Given the description of an element on the screen output the (x, y) to click on. 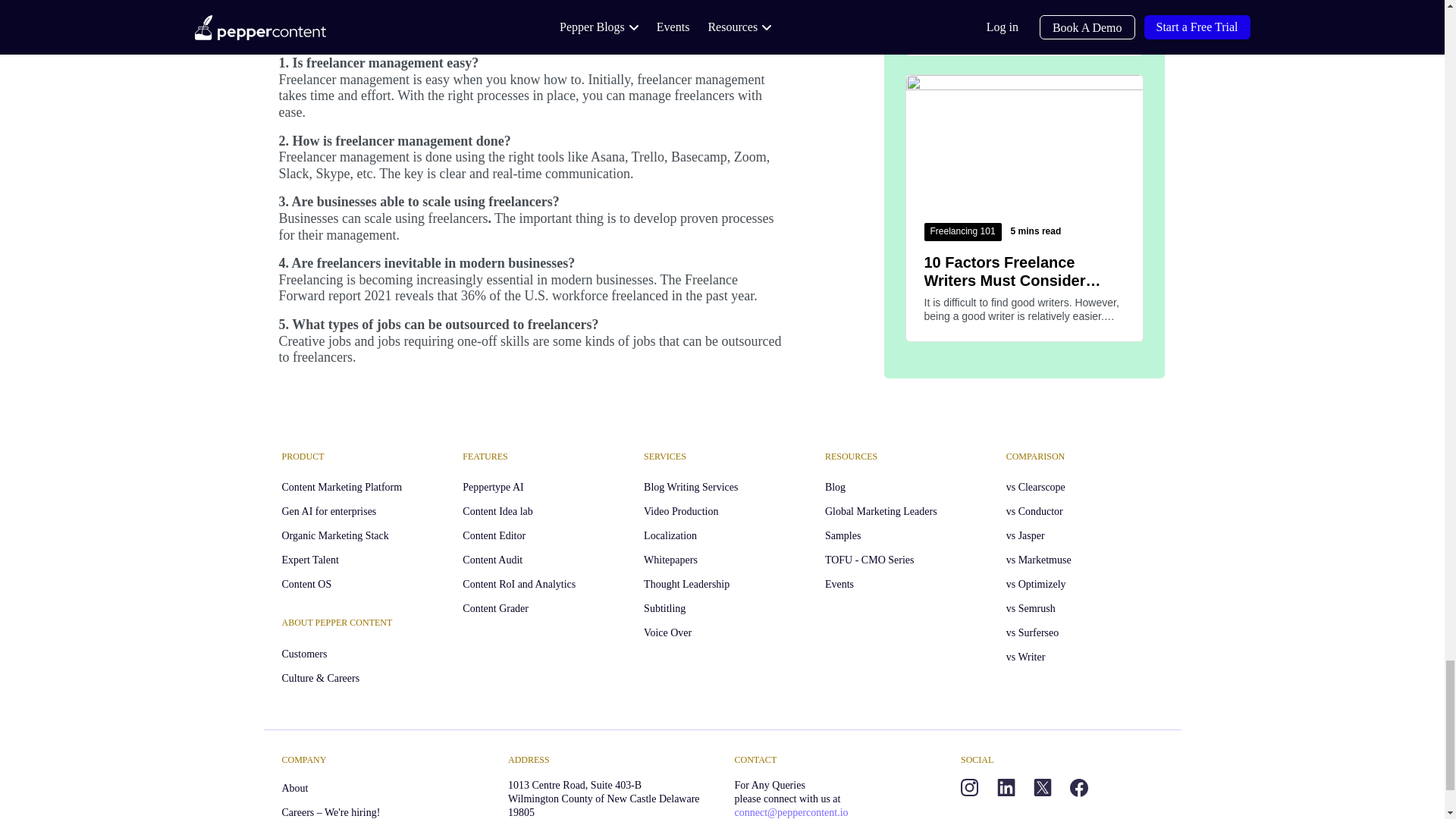
twitter (1042, 787)
facebook (1078, 787)
linkedin (1005, 787)
instagram (969, 787)
